Given the description of an element on the screen output the (x, y) to click on. 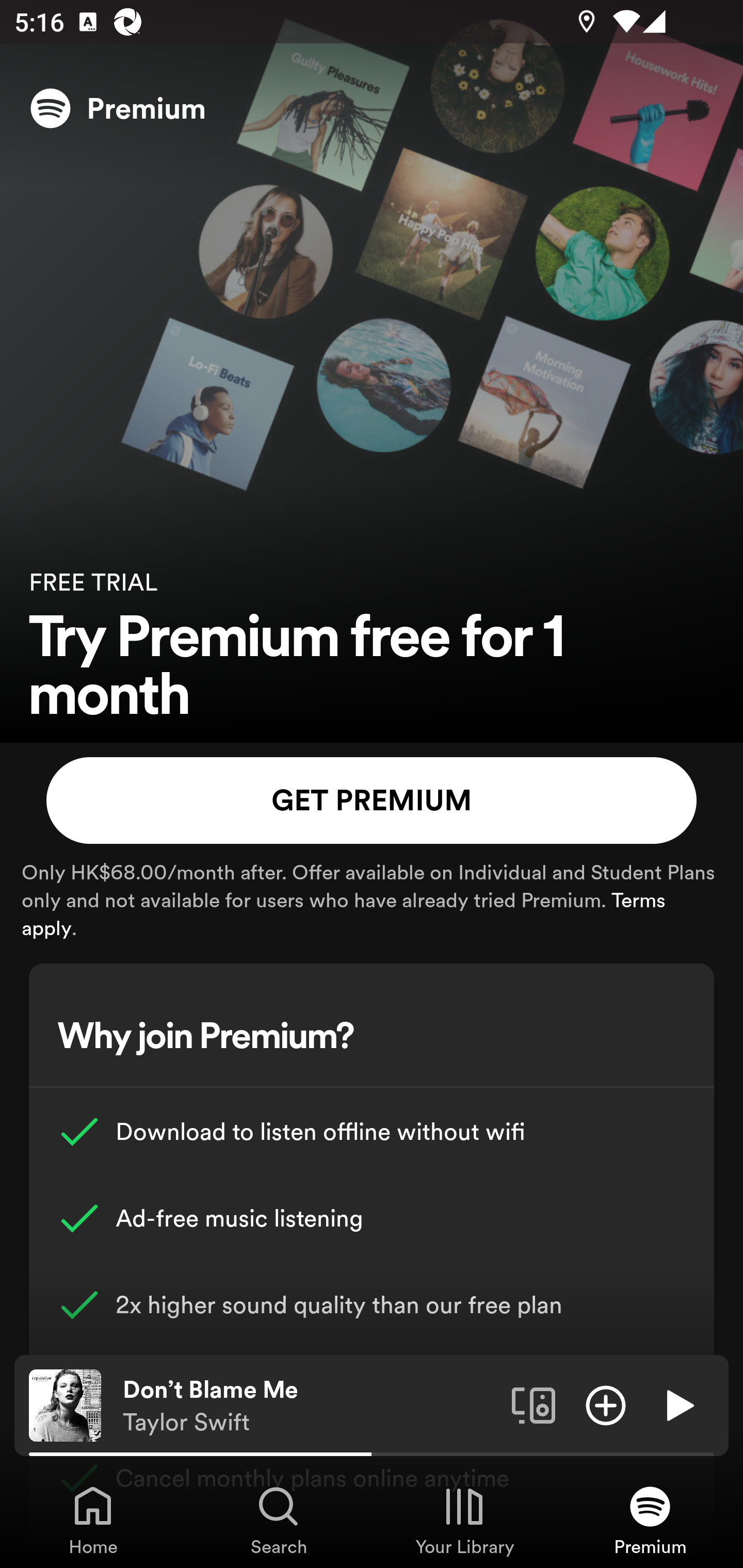
GET PREMIUM (371, 800)
Don’t Blame Me Taylor Swift (309, 1405)
The cover art of the currently playing track (64, 1404)
Connect to a device. Opens the devices menu (533, 1404)
Add item (605, 1404)
Play (677, 1404)
Home, Tab 1 of 4 Home Home (92, 1519)
Search, Tab 2 of 4 Search Search (278, 1519)
Your Library, Tab 3 of 4 Your Library Your Library (464, 1519)
Premium, Tab 4 of 4 Premium Premium (650, 1519)
